Given the description of an element on the screen output the (x, y) to click on. 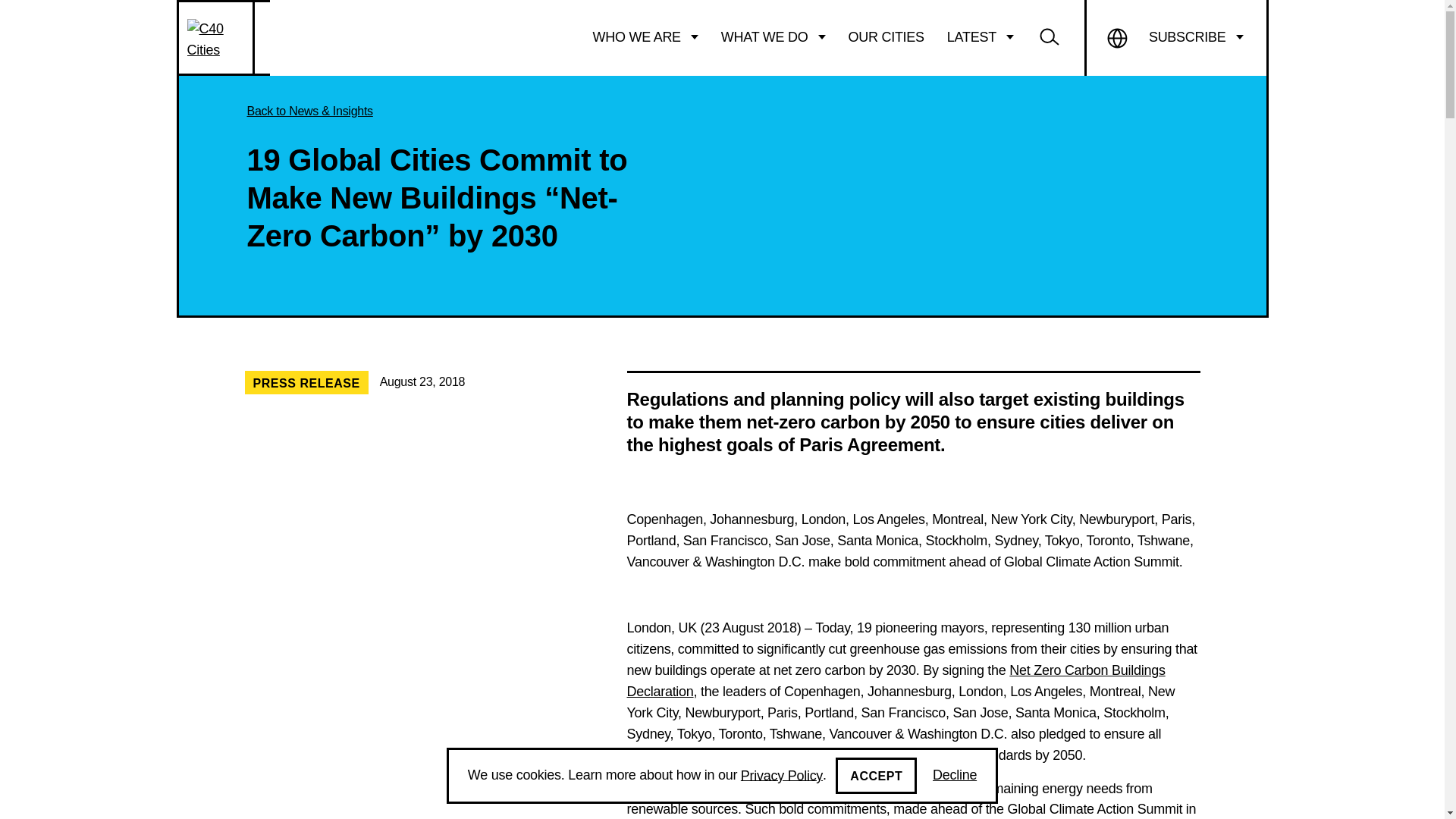
OUR CITIES (886, 37)
WHAT WE DO (773, 37)
LATEST (980, 37)
WHO WE ARE (645, 37)
